Given the description of an element on the screen output the (x, y) to click on. 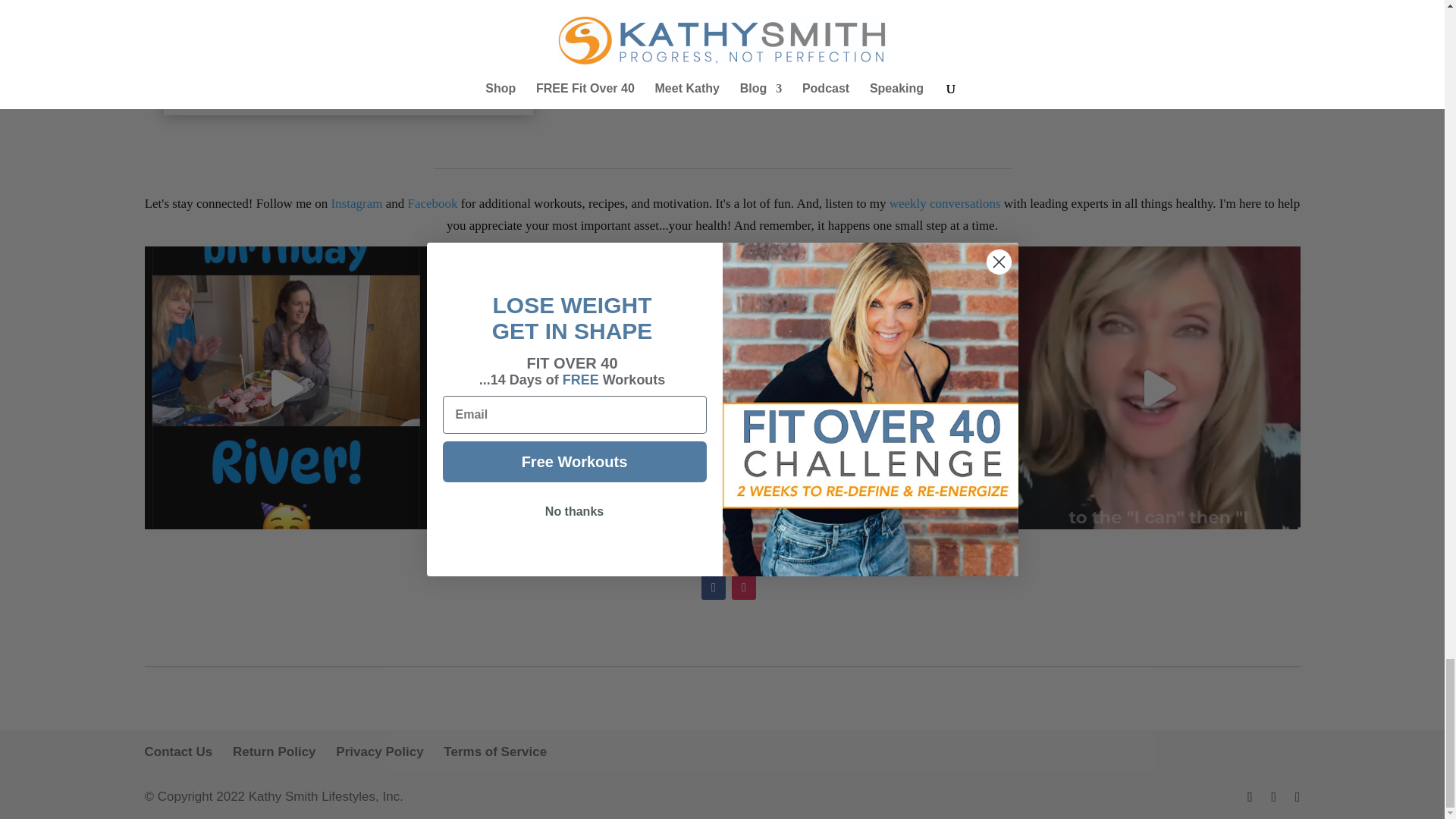
Follow on Facebook (713, 587)
Follow on Instagram (743, 587)
